Given the description of an element on the screen output the (x, y) to click on. 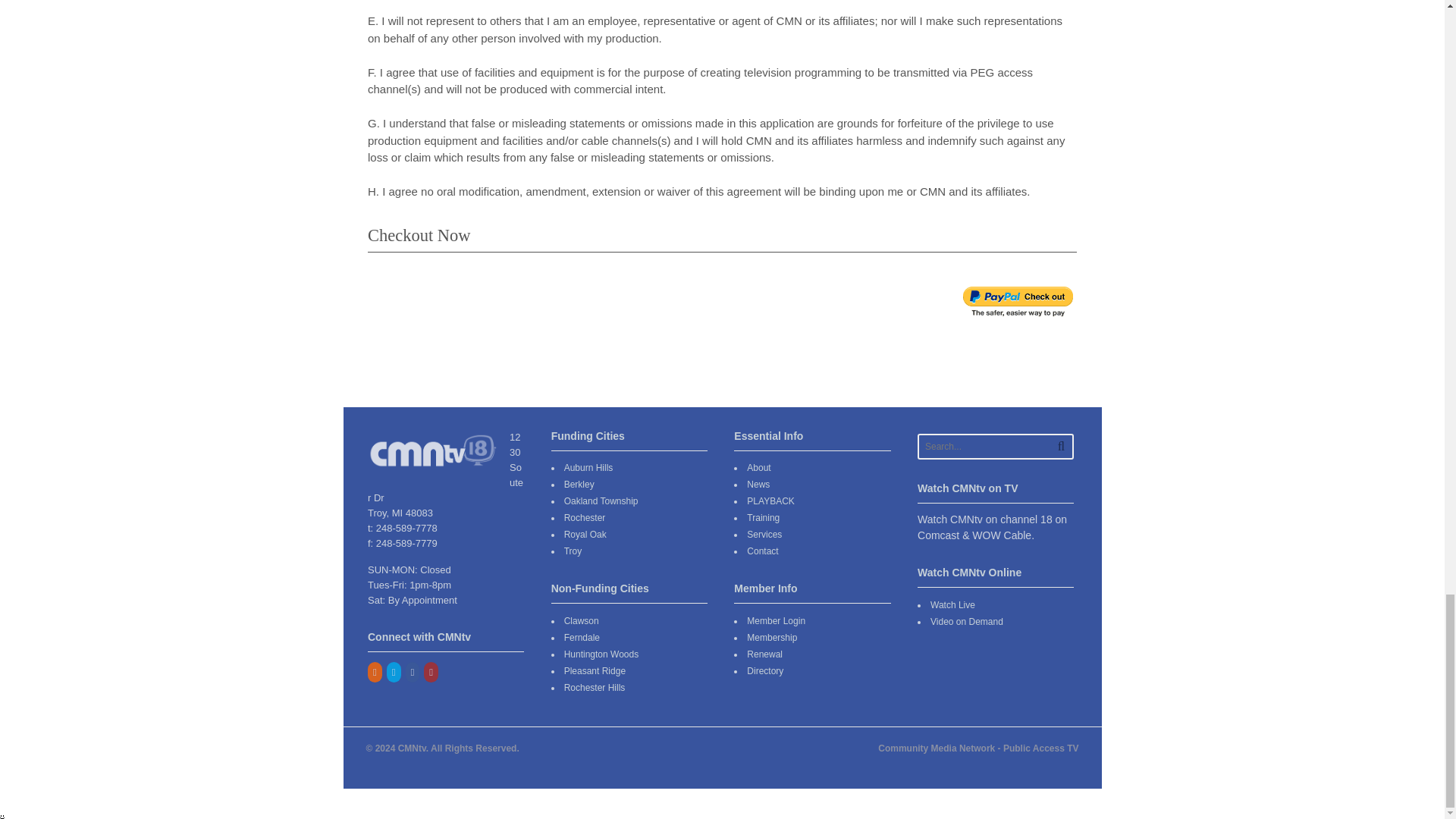
Ferndale (581, 637)
Search... (989, 445)
Auburn Hills (588, 467)
Clawson (581, 620)
Pleasant Ridge (595, 670)
Royal Oak (585, 534)
Oakland Twp (601, 501)
Submit Form (1018, 302)
Rochester Hills (595, 687)
RSS (376, 672)
Facebook (414, 672)
Troy (573, 551)
Rochester (584, 517)
Twitter (395, 672)
Huntington Woods (601, 654)
